Given the description of an element on the screen output the (x, y) to click on. 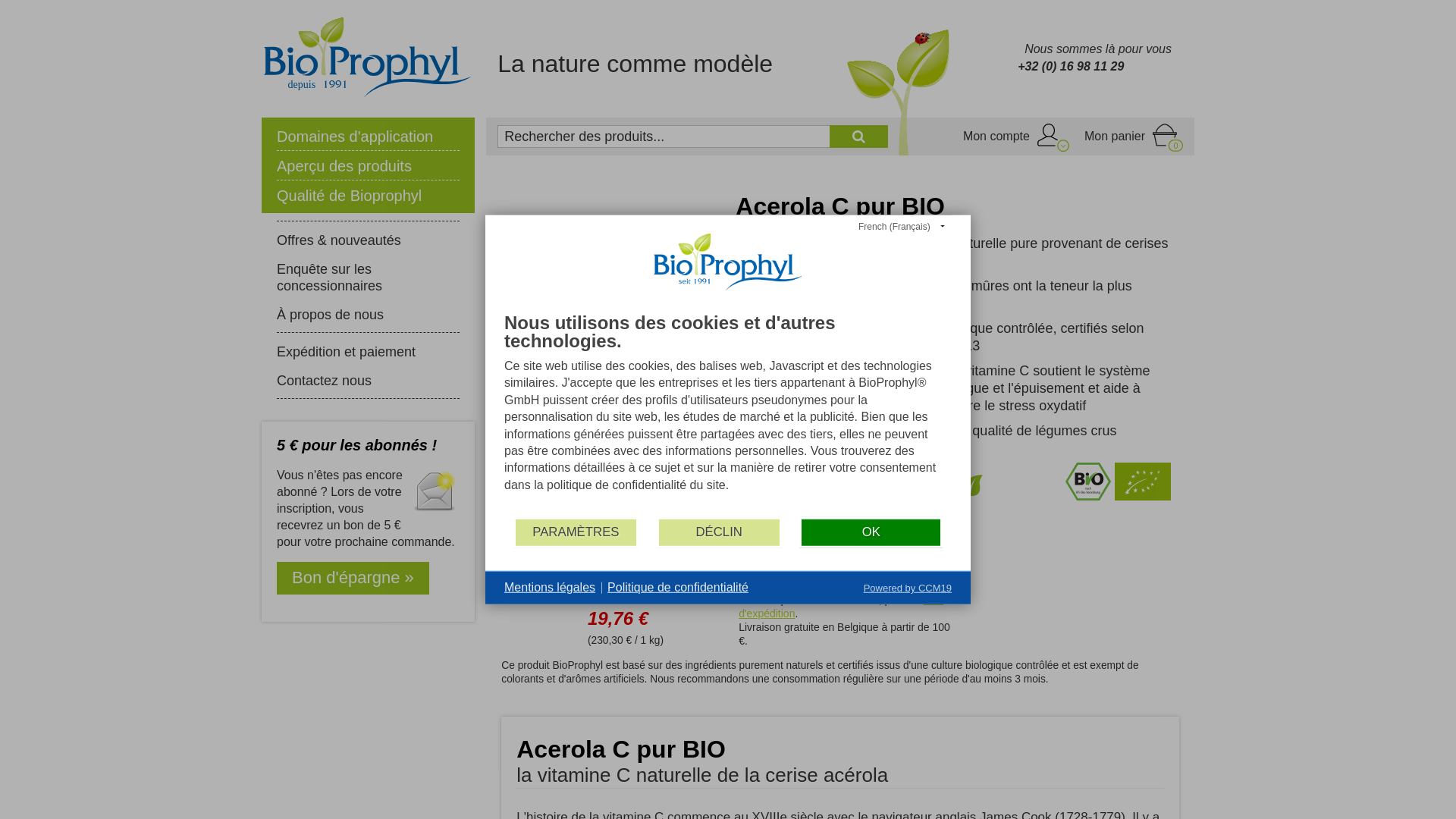
Contactez nous Element type: text (367, 379)
BIO Acerola C pur Element type: hover (529, 272)
Ajouter au panier Element type: text (869, 540)
Allergenfrei Element type: text (807, 495)
Vegetarisch Element type: text (931, 495)
Vegan Element type: text (971, 495)
Domaines d'application Element type: text (367, 135)
Zur Startseite Element type: hover (367, 57)
ici Element type: text (923, 580)
BIO Acerola C pur Etikett Element type: hover (529, 391)
Powered by CCM19 Element type: text (907, 587)
Acerola C pur BIO Element type: hover (666, 354)
+32 (0) 16 98 11 29 Element type: text (1070, 65)
Laktosefrei Element type: text (889, 495)
Mon panier
0 Element type: text (1114, 135)
OK Element type: text (870, 532)
Mon compte Element type: text (996, 135)
Recherche Element type: hover (858, 136)
Glutenfrei Element type: text (848, 495)
